Given the description of an element on the screen output the (x, y) to click on. 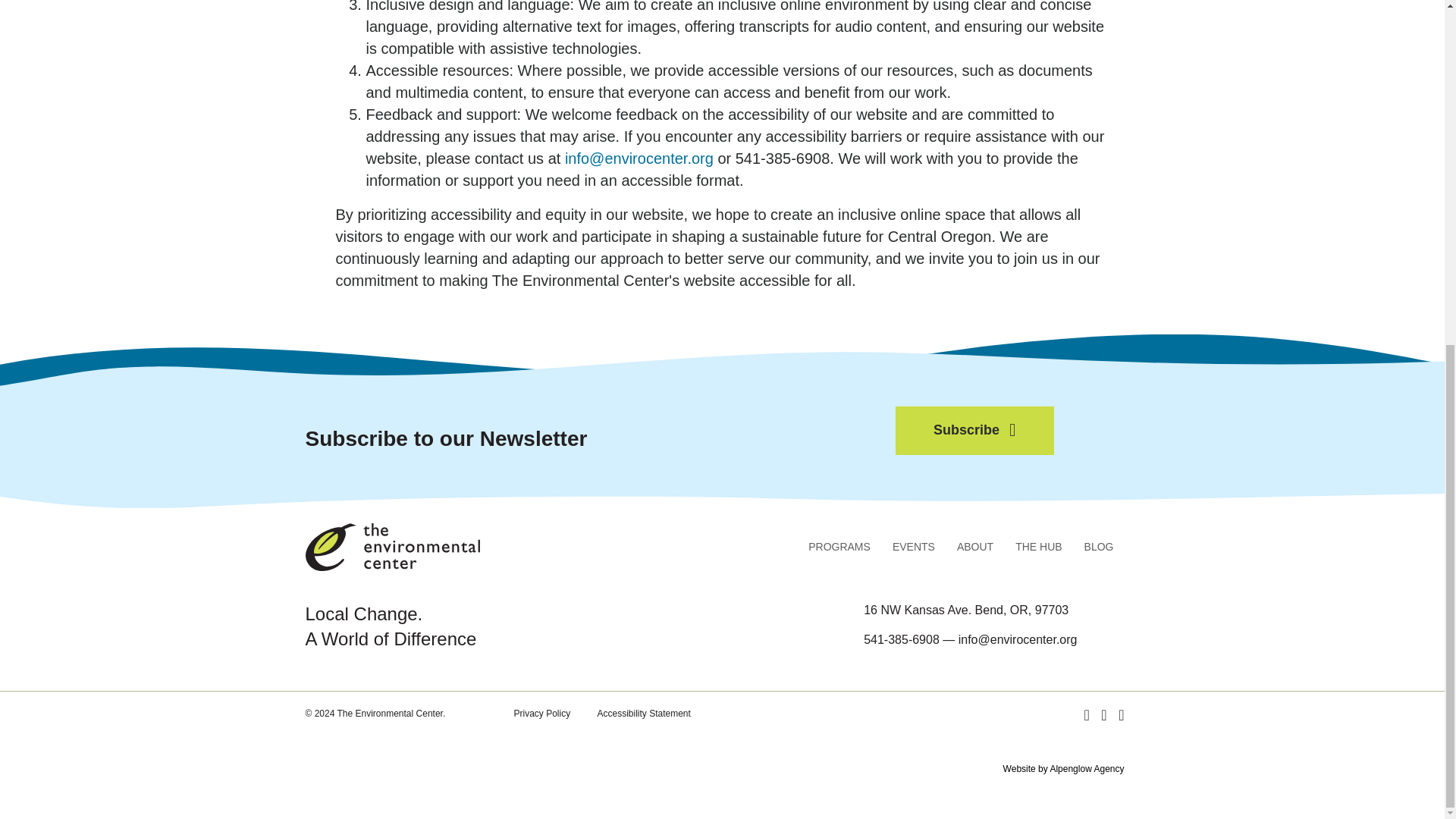
Bend, Oregon WordPress Design and Development (1063, 768)
